Given the description of an element on the screen output the (x, y) to click on. 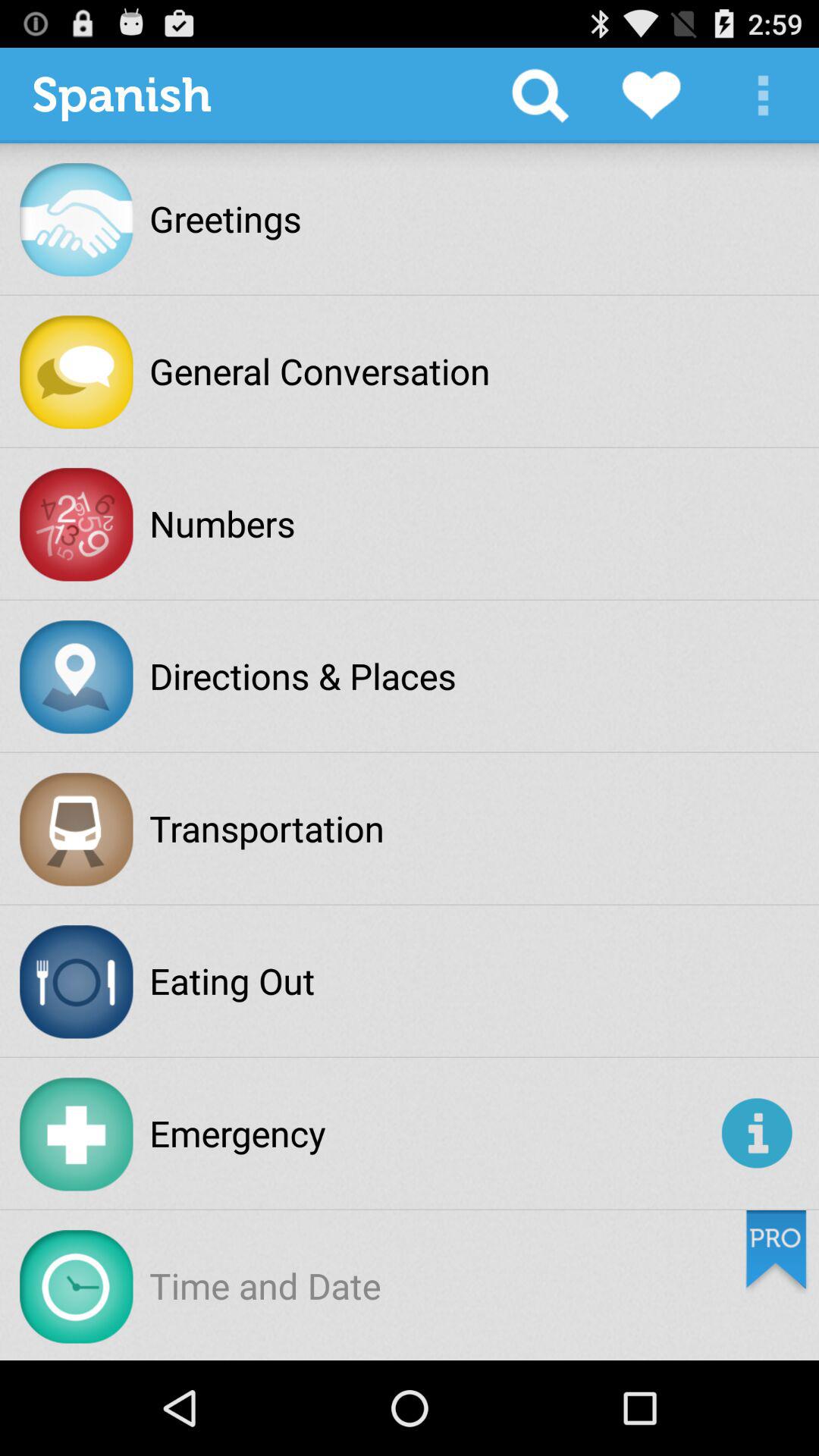
tap icon at the center (302, 675)
